Given the description of an element on the screen output the (x, y) to click on. 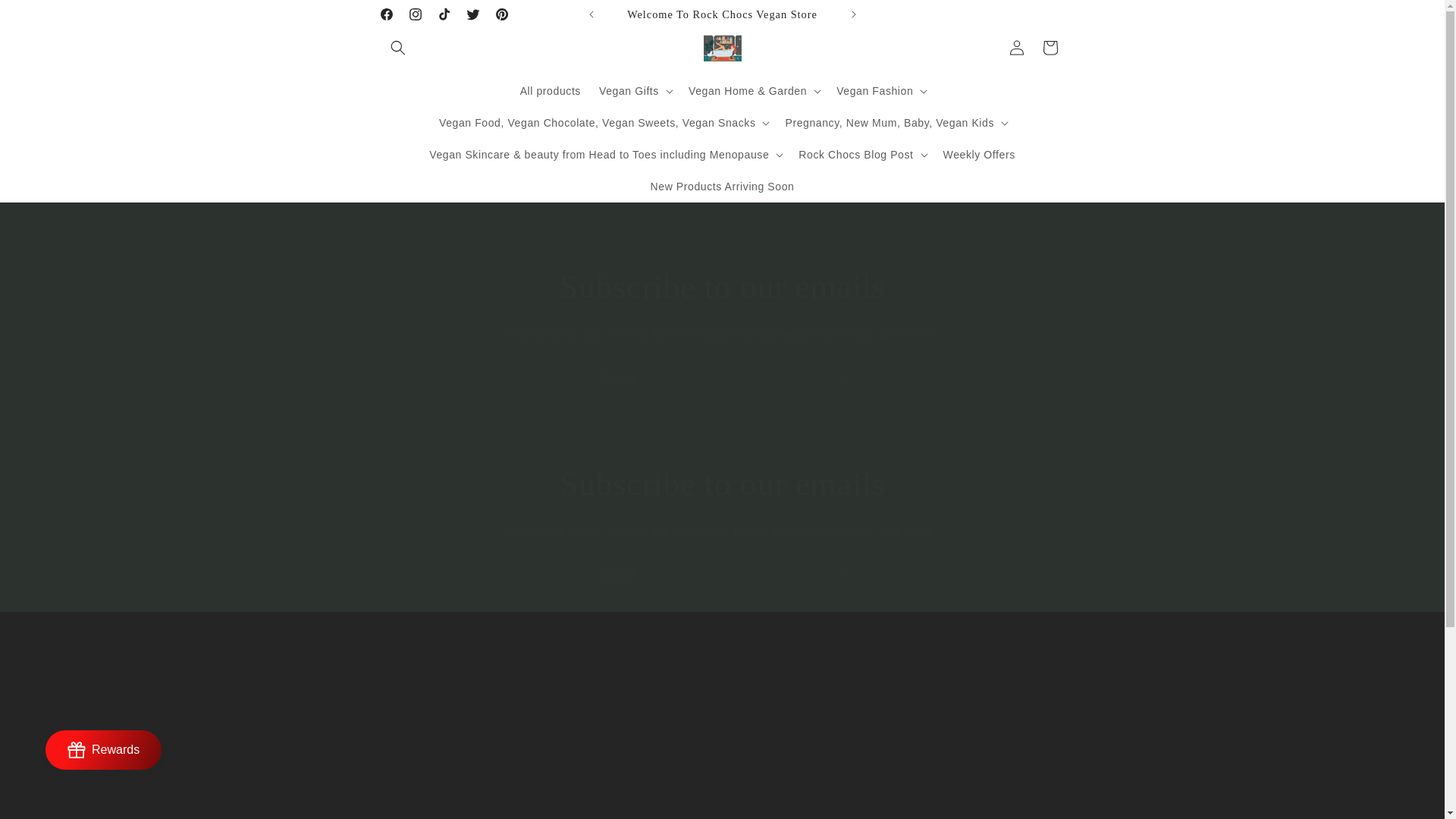
Facebook (385, 14)
TikTok (443, 14)
Email (722, 378)
Skip to content (45, 17)
Email (722, 575)
Twitter (472, 14)
Instagram (414, 14)
Subscribe to our emails (721, 484)
Subscribe to our emails (721, 287)
Pinterest (500, 14)
